Given the description of an element on the screen output the (x, y) to click on. 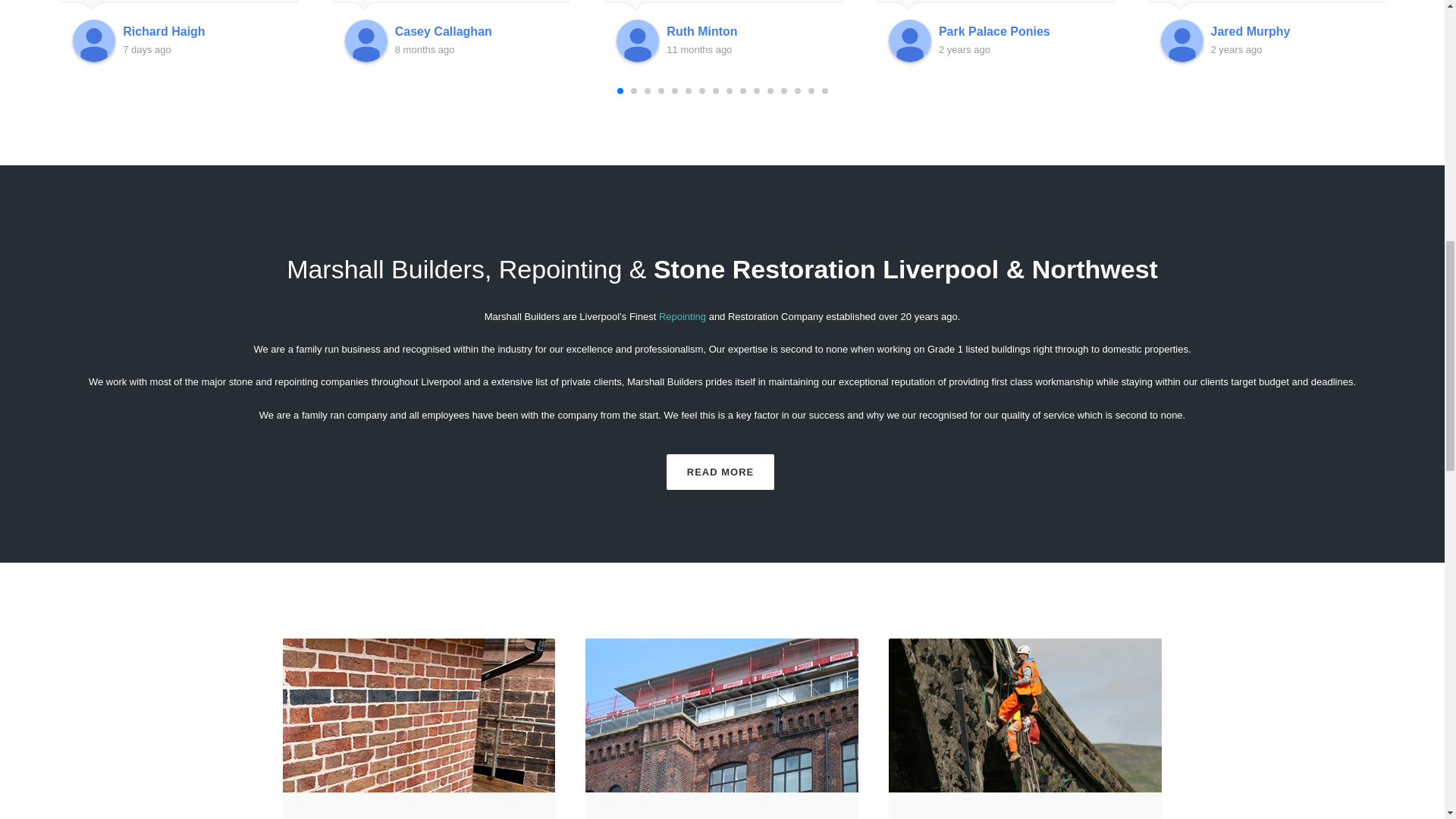
Ruth Minton (637, 40)
Richard Haigh (93, 40)
Repointing (682, 316)
READ MORE (720, 471)
Casey Callaghan (475, 31)
Richard Haigh (202, 31)
Casey Callaghan (366, 40)
Ruth Minton (747, 31)
Repointing (344, 818)
